Given the description of an element on the screen output the (x, y) to click on. 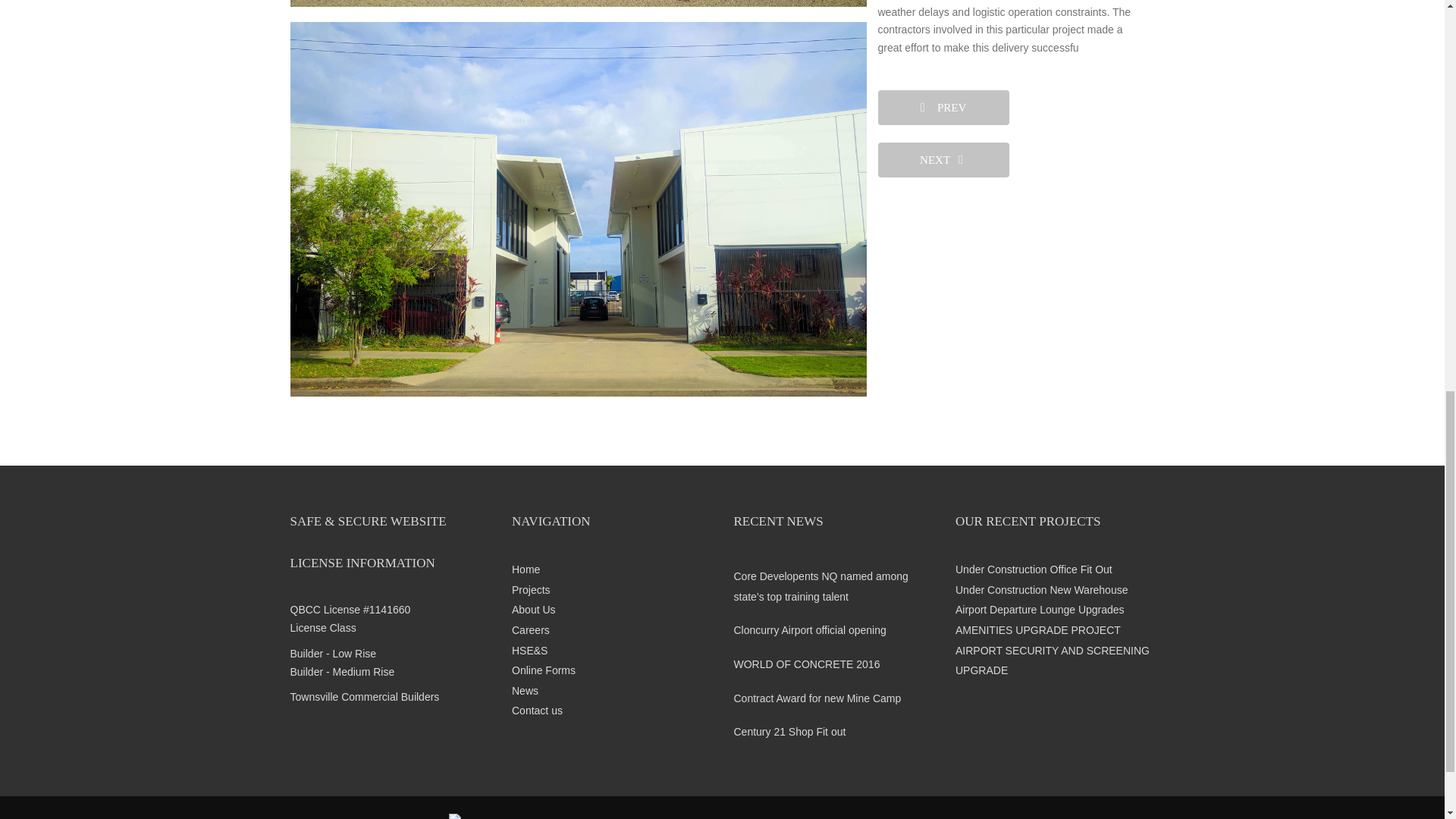
Projects (611, 589)
NEXT   (943, 151)
NEXT   (943, 159)
Home (611, 569)
  PREV (943, 98)
  PREV (943, 107)
About Us (611, 609)
Careers (611, 629)
